Given the description of an element on the screen output the (x, y) to click on. 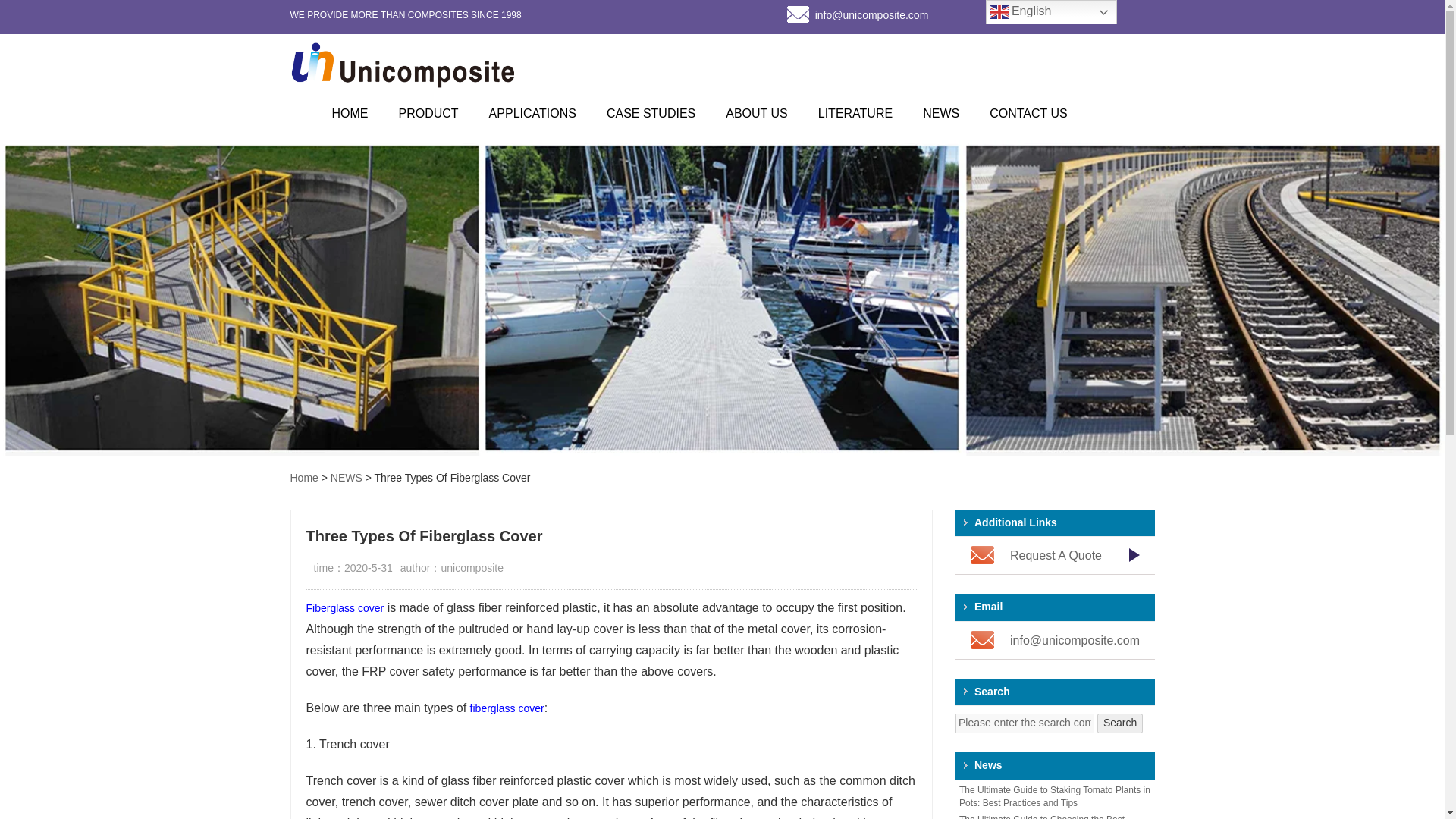
Unicomposite (403, 64)
PRODUCT (429, 113)
APPLICATIONS (532, 113)
ABOUT US (756, 113)
Unicomposite (721, 64)
Search (1119, 723)
HOME (350, 113)
English (1050, 12)
CASE STUDIES (650, 113)
